Given the description of an element on the screen output the (x, y) to click on. 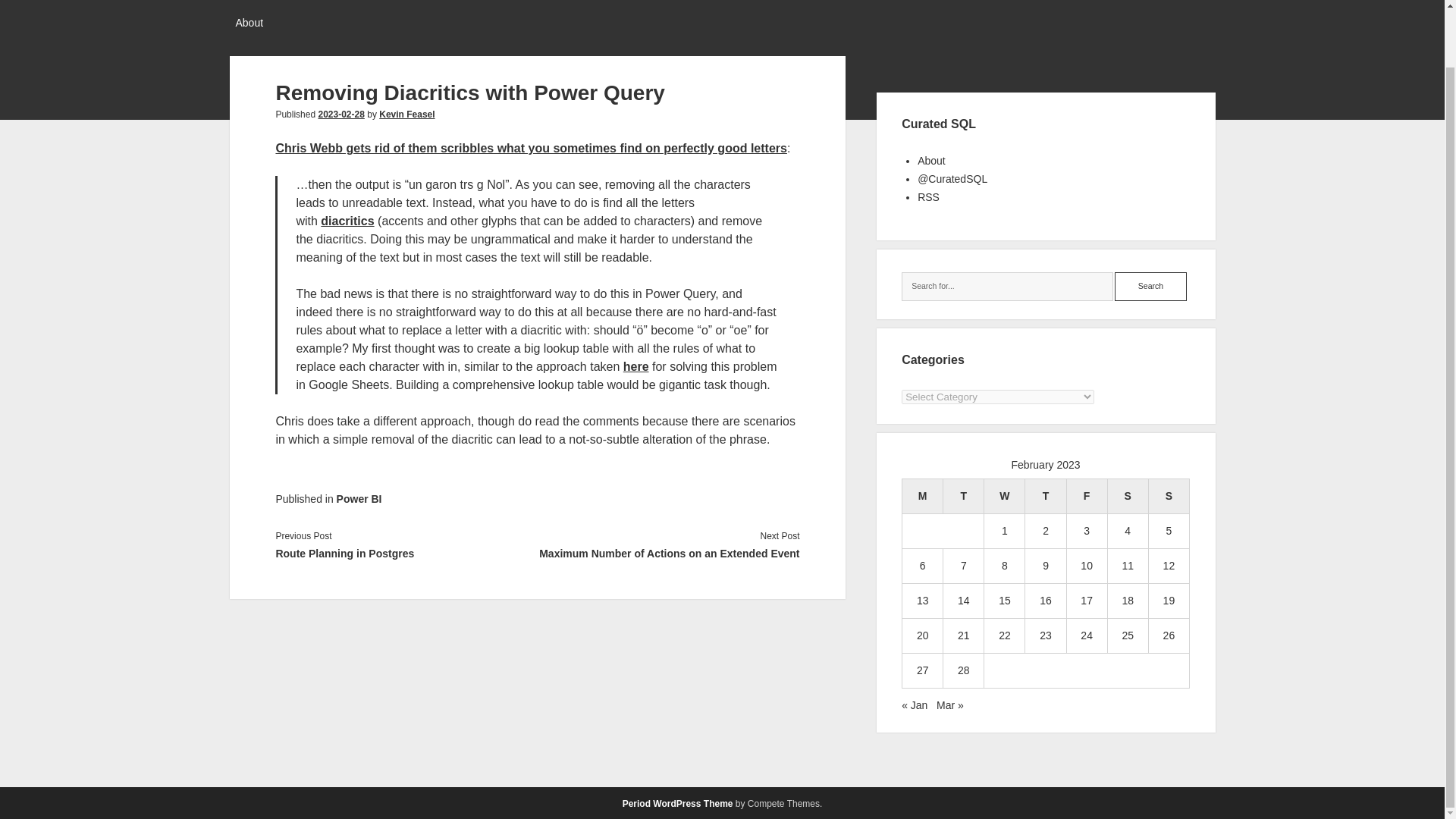
About (930, 160)
Power BI (358, 499)
22 (1004, 635)
2023-02-28 (340, 113)
Search (1150, 286)
Search (1150, 286)
Kevin Feasel (405, 113)
RSS (928, 196)
23 (1045, 635)
Search (1150, 286)
